Given the description of an element on the screen output the (x, y) to click on. 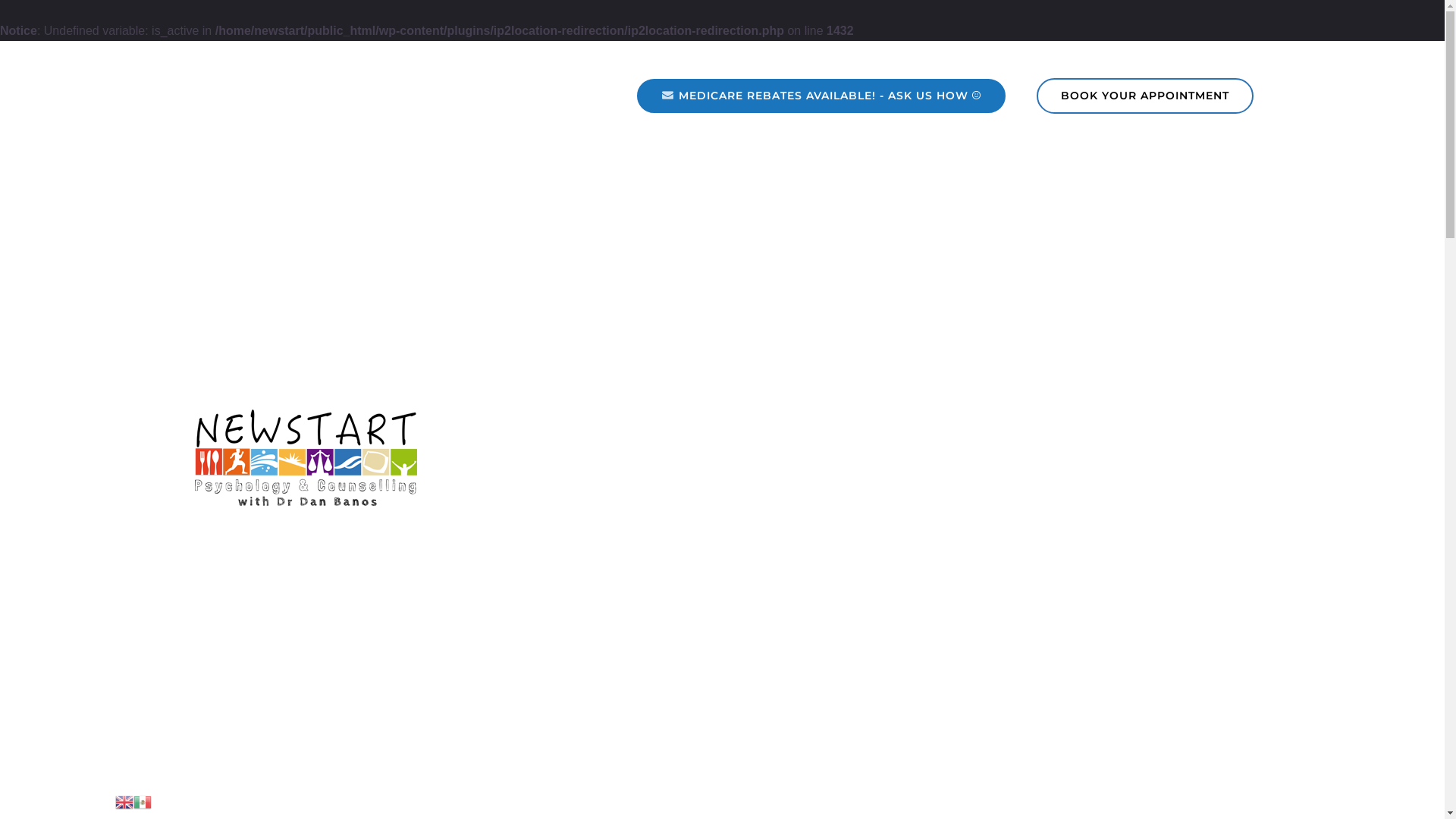
Spanish Element type: hover (142, 800)
English Element type: hover (124, 800)
MEDICARE REBATES AVAILABLE! - ASK US HOW Element type: text (828, 95)
BOOK YOUR APPOINTMENT Element type: text (1143, 95)
